Given the description of an element on the screen output the (x, y) to click on. 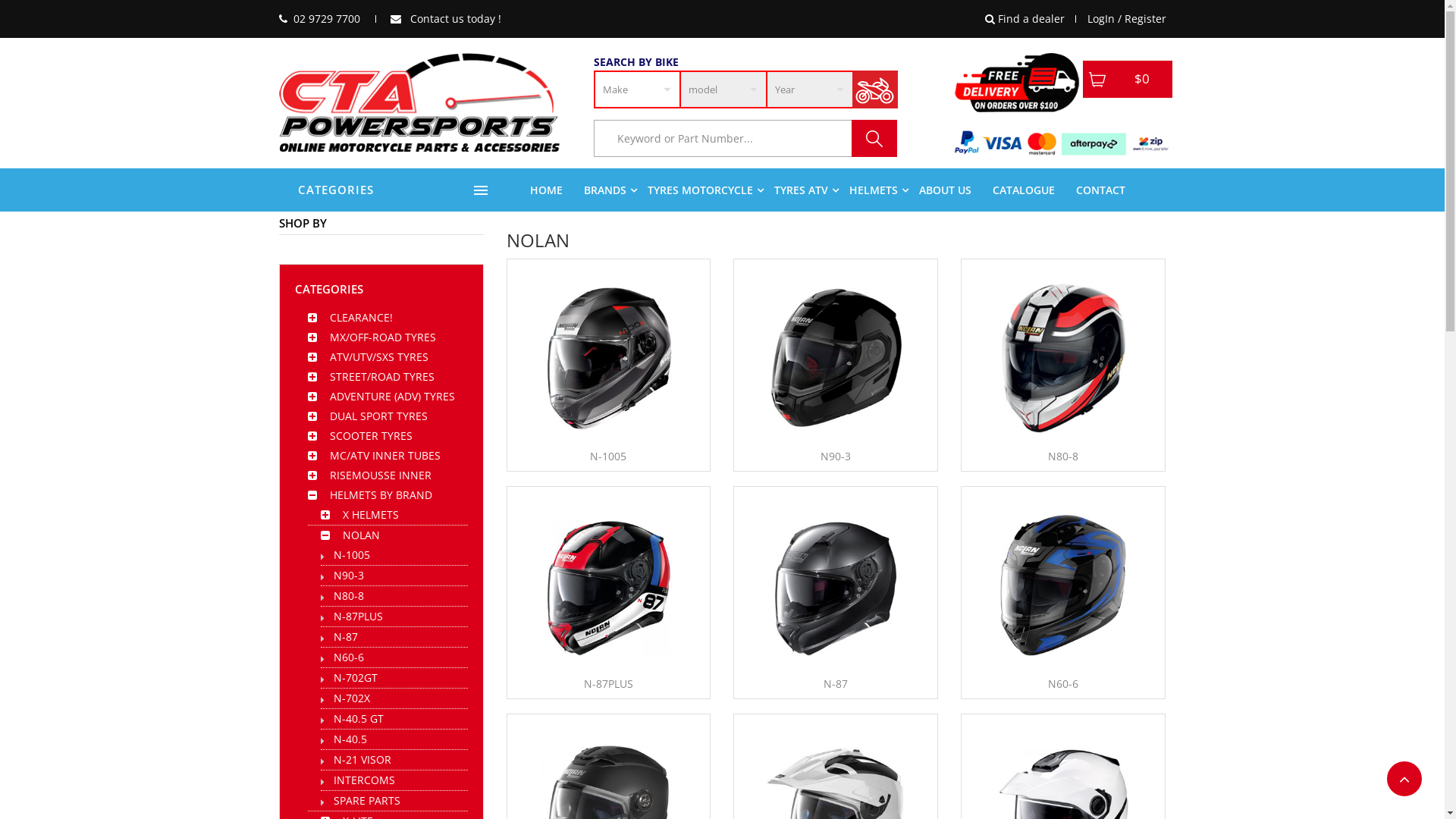
N-21 VISOR Element type: text (362, 759)
INTERCOMS Element type: text (364, 779)
N-87PLUS Element type: text (608, 683)
MX/OFF-ROAD TYRES Element type: text (382, 336)
CLEARANCE! Element type: text (360, 317)
N60-6 Element type: hover (1063, 584)
SPARE PARTS Element type: text (366, 800)
N90-3 Element type: text (348, 574)
N-1005 Element type: text (607, 455)
ABOUT US Element type: text (945, 189)
N60-6 Element type: text (348, 656)
HOME Element type: text (545, 189)
N-1005 Element type: text (351, 554)
Contact us today ! Element type: text (444, 18)
MC/ATV INNER TUBES Element type: text (384, 455)
BRANDS Element type: text (605, 189)
CONTACT Element type: text (1099, 189)
STREET/ROAD TYRES Element type: text (381, 376)
LogIn / Register Element type: text (1126, 18)
DUAL SPORT TYRES Element type: text (377, 415)
$0 Element type: text (1127, 78)
N-1005 Element type: hover (608, 356)
N-87PLUS Element type: hover (608, 584)
ATV/UTV/SXS TYRES Element type: text (378, 356)
N-702GT Element type: text (355, 677)
TYRES ATV Element type: text (799, 189)
ADVENTURE (ADV) TYRES Element type: text (391, 396)
N90-3 Element type: hover (835, 356)
N-702X Element type: text (351, 697)
N60-6 Element type: text (1063, 683)
SCOOTER TYRES Element type: text (370, 435)
TYRES MOTORCYCLE Element type: text (700, 189)
RISEMOUSSE INNER Element type: text (379, 474)
X HELMETS Element type: text (370, 514)
Find a dealer Element type: text (1023, 18)
N80-8 Element type: text (1063, 455)
HELMETS BY BRAND Element type: text (380, 494)
N-87 Element type: text (345, 636)
NOLAN Element type: text (360, 534)
N-87 Element type: hover (835, 584)
CATALOGUE Element type: text (1022, 189)
N-40.5 GT Element type: text (358, 718)
N-40.5 Element type: text (350, 738)
N80-8 Element type: hover (1063, 356)
N-87 Element type: text (835, 683)
N90-3 Element type: text (835, 455)
N80-8 Element type: text (348, 595)
N-87PLUS Element type: text (357, 615)
HELMETS Element type: text (873, 189)
